Given the description of an element on the screen output the (x, y) to click on. 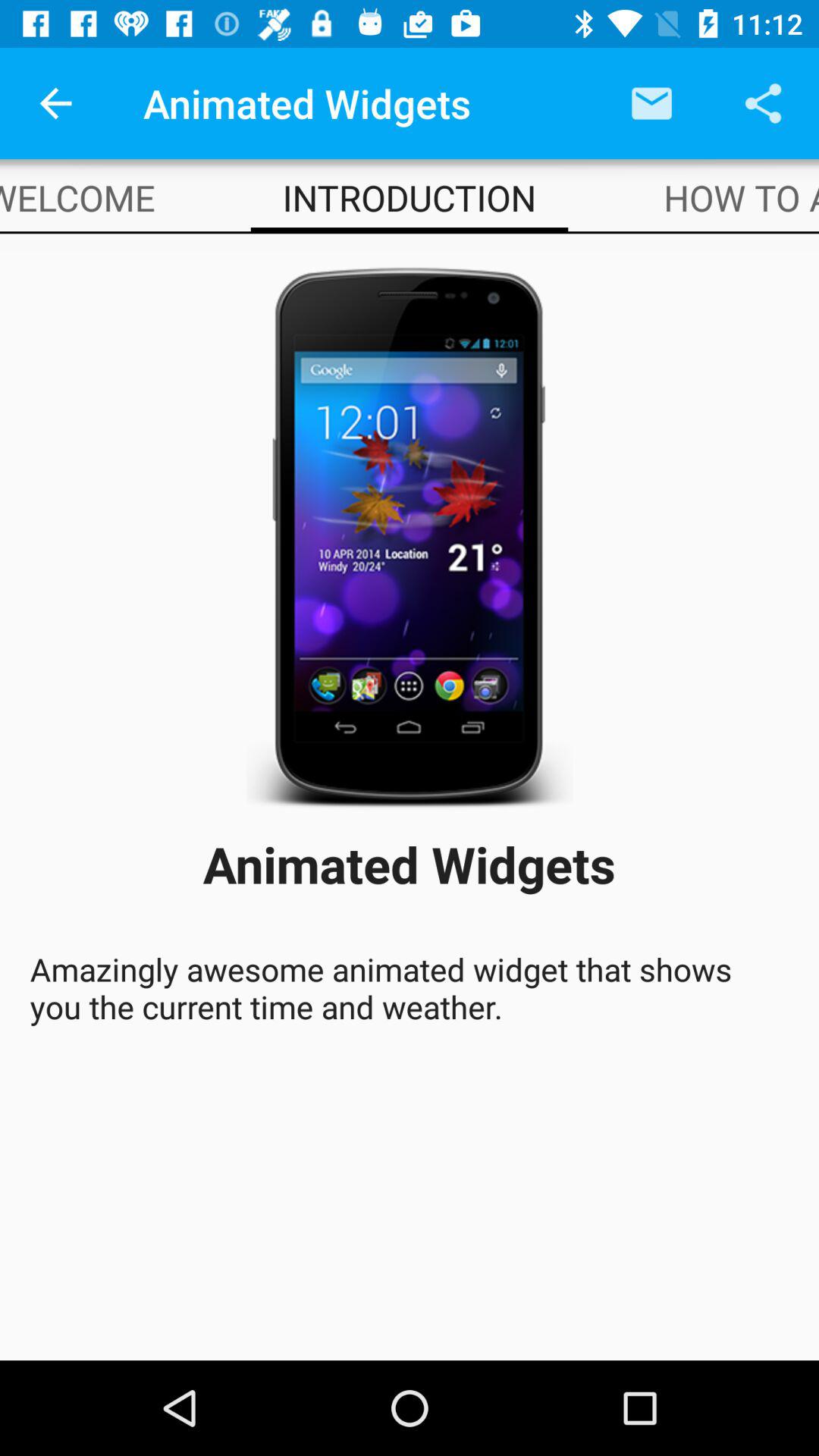
open item next to animated widgets item (651, 103)
